Given the description of an element on the screen output the (x, y) to click on. 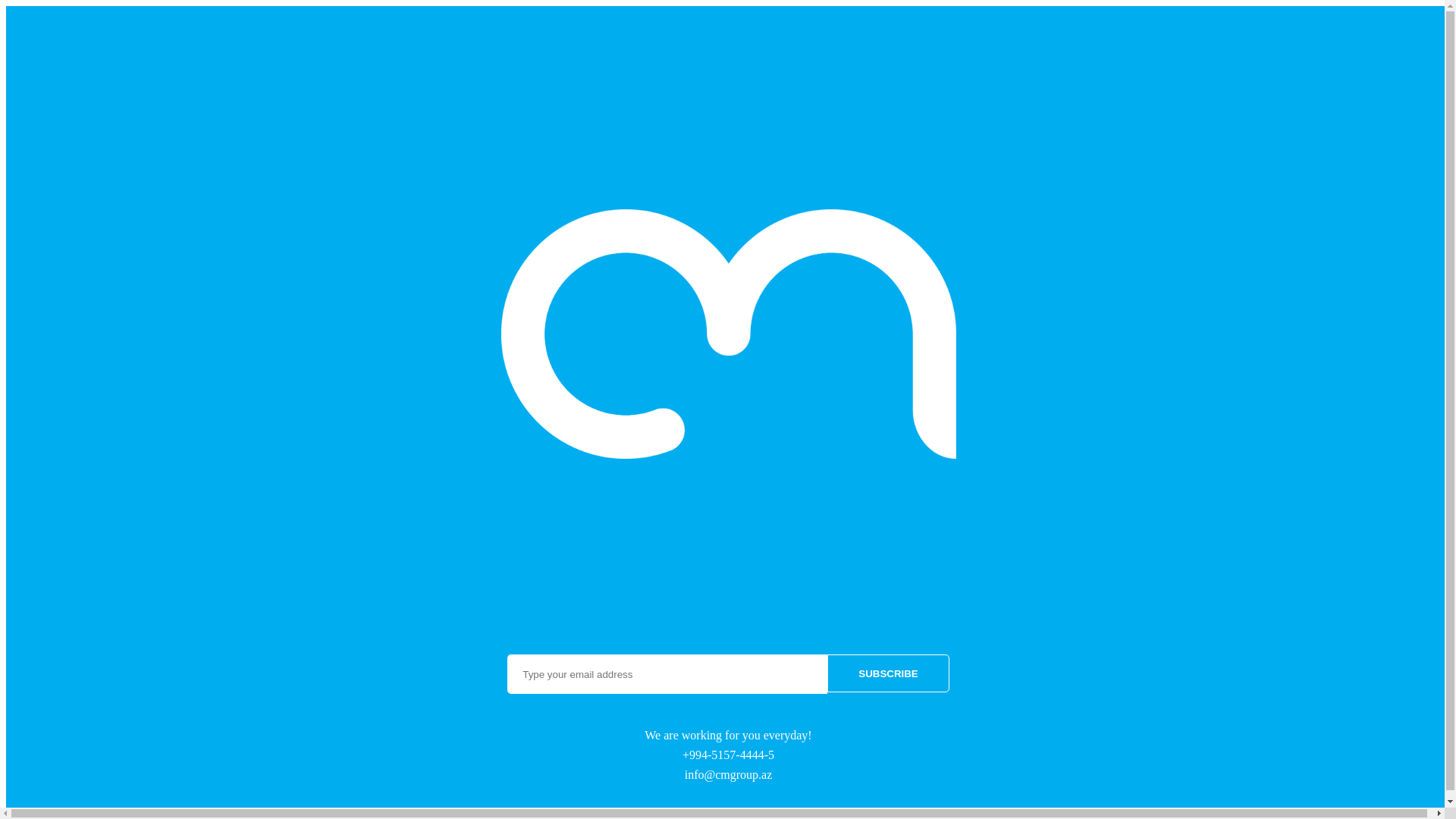
SUBSCRIBE Element type: text (888, 673)
